Given the description of an element on the screen output the (x, y) to click on. 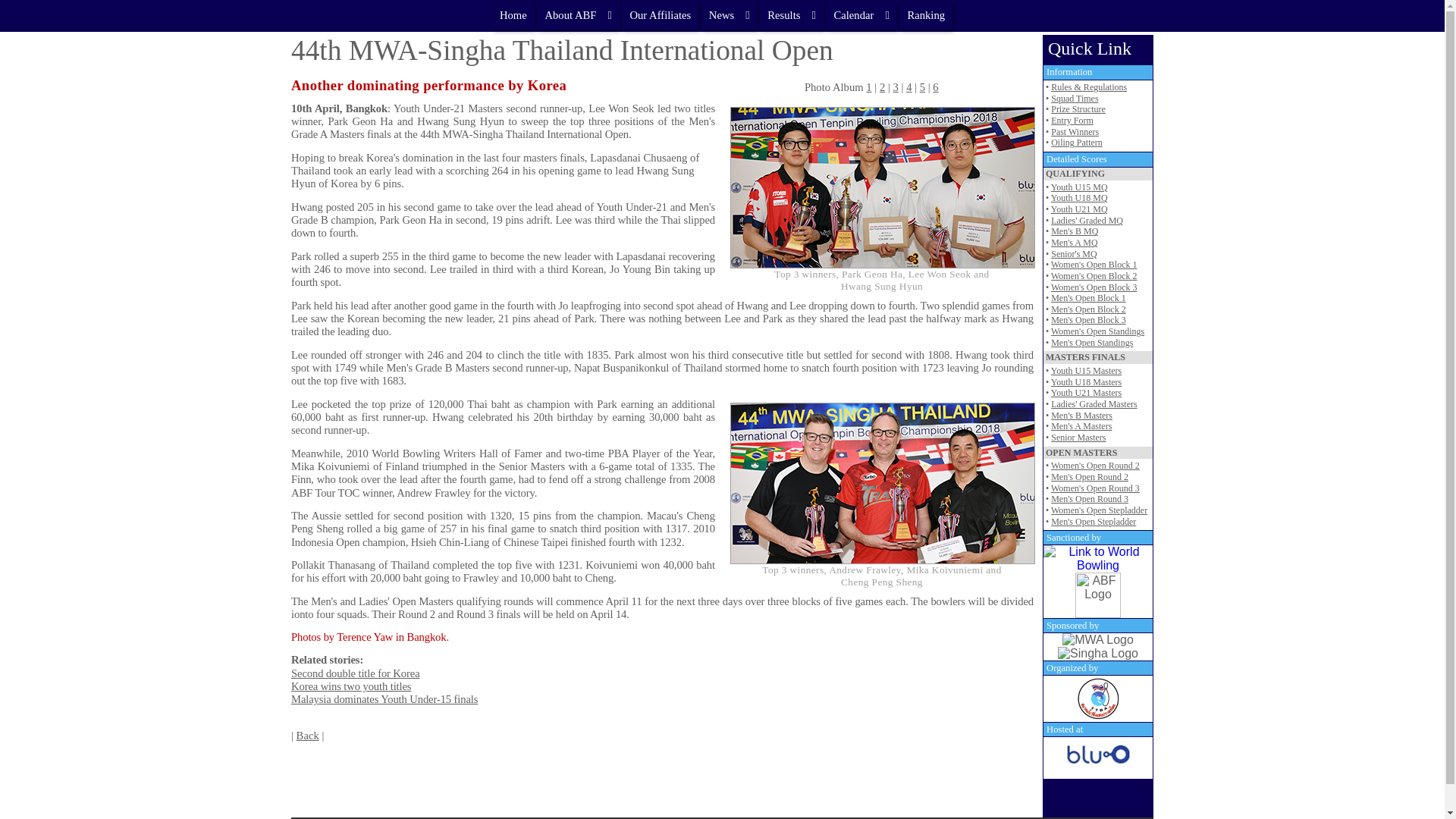
TTBA Logo (1098, 698)
Singha Logo (1098, 653)
About ABF (577, 15)
Senior Top 3 Winners (882, 483)
Home (513, 15)
ABF Logo (1098, 595)
Blu-O logo (1097, 757)
MWA Logo (1098, 640)
Results (792, 15)
Link to World Bowling (1098, 558)
Calendar (860, 15)
News (729, 15)
Our Affiliates (659, 15)
Men's Grade A Top 3 Winners (882, 187)
